Given the description of an element on the screen output the (x, y) to click on. 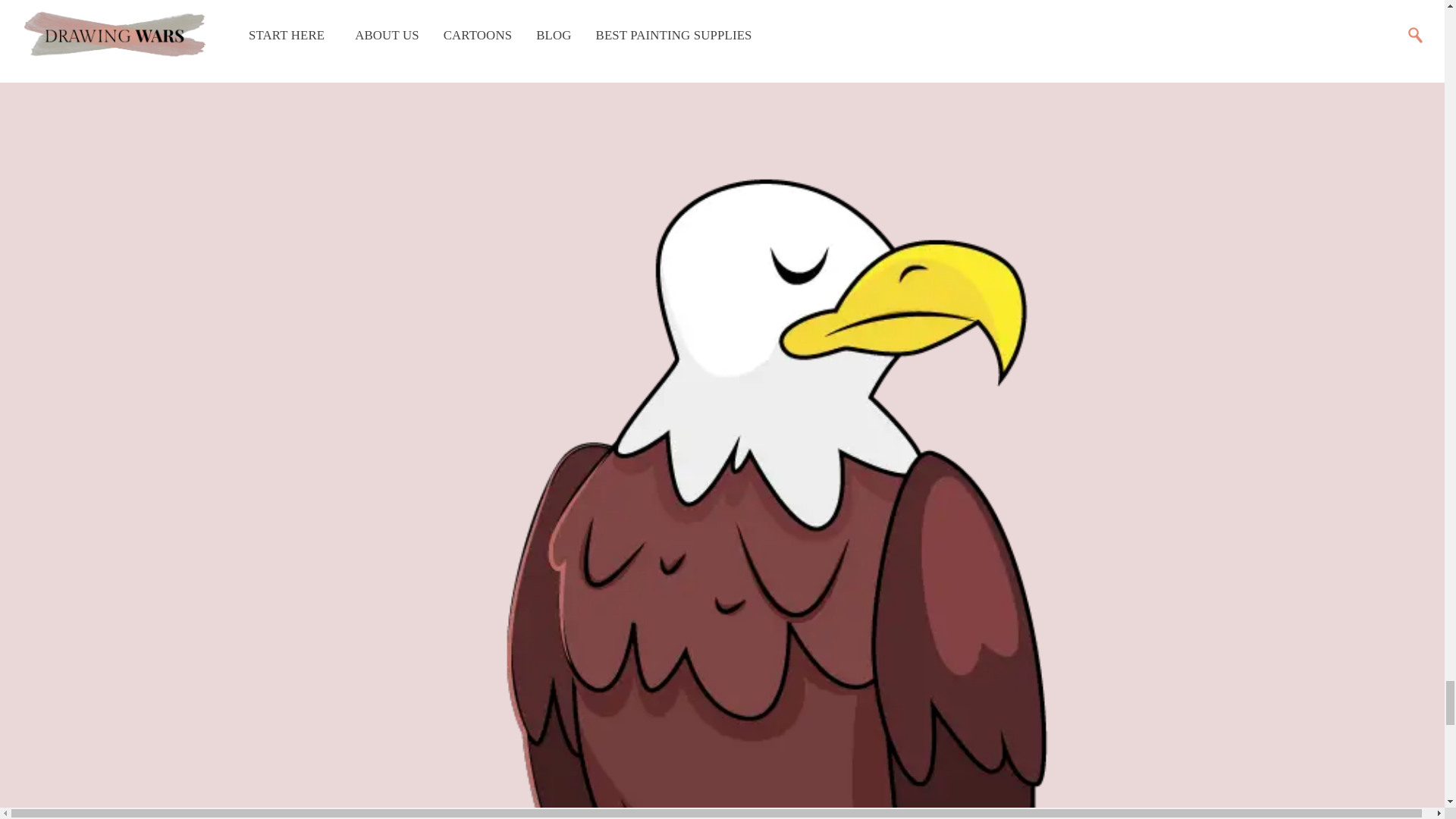
How to Draw A Backpack Step by Step (722, 46)
